Given the description of an element on the screen output the (x, y) to click on. 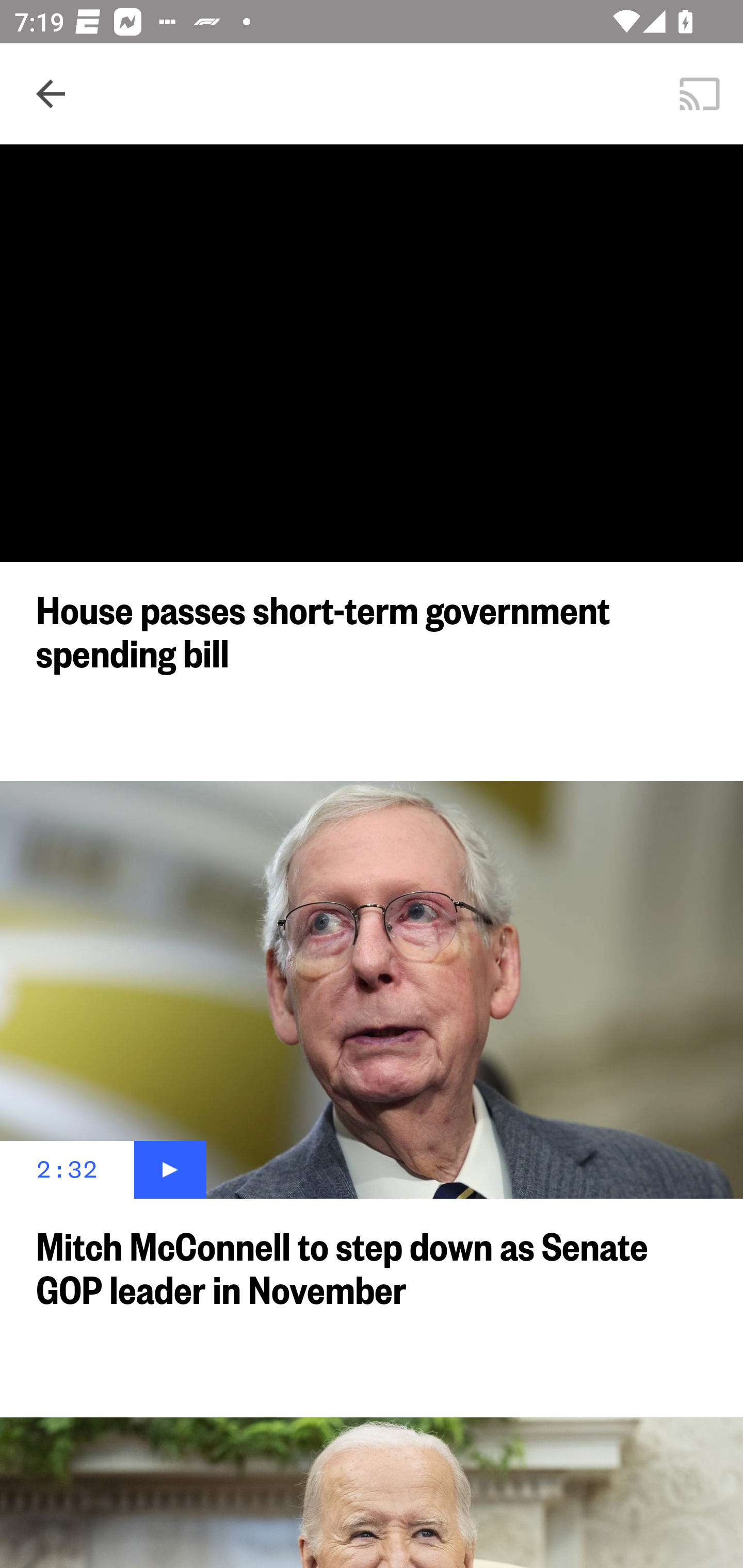
Navigate up (50, 93)
Cast. Disconnected (699, 93)
